Given the description of an element on the screen output the (x, y) to click on. 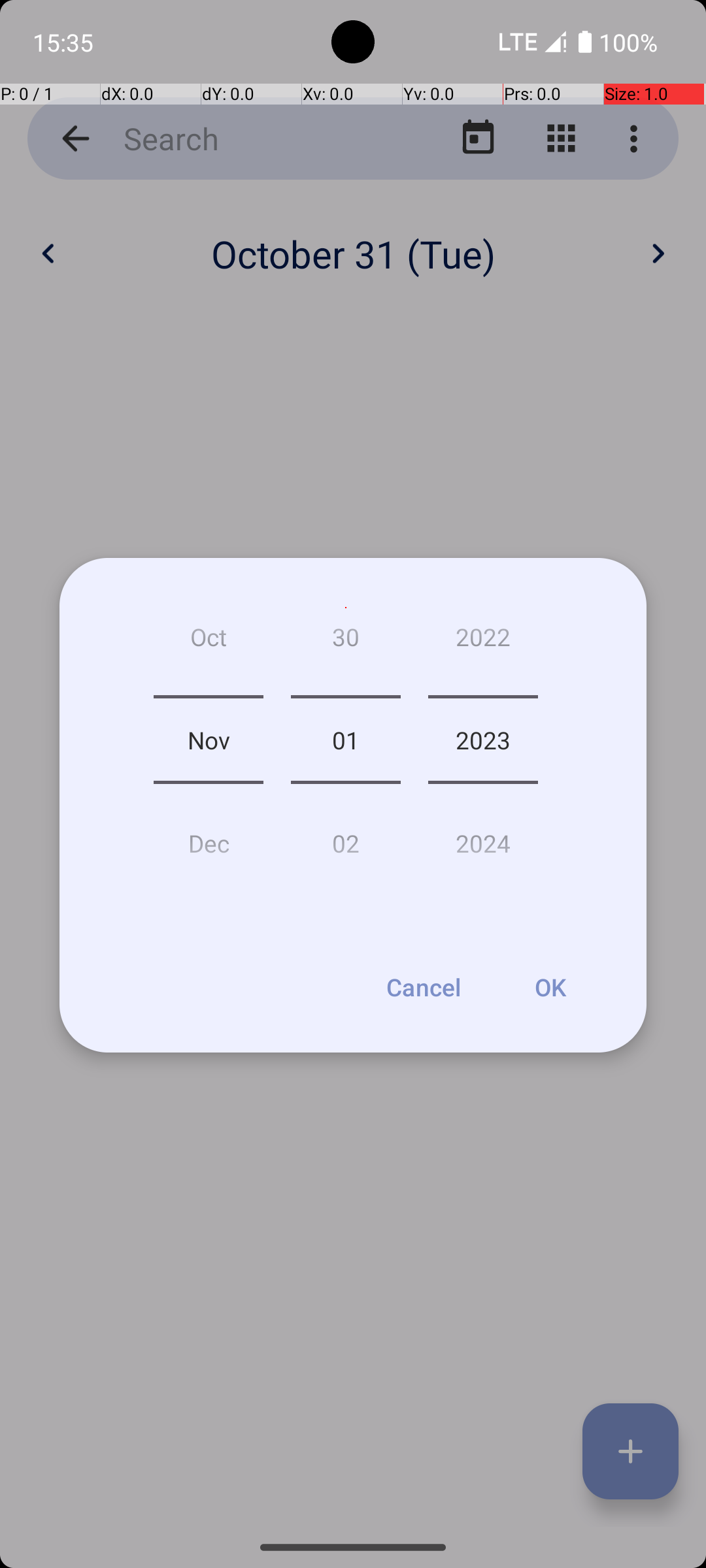
Dec Element type: android.widget.Button (208, 837)
02 Element type: android.widget.Button (345, 837)
